Given the description of an element on the screen output the (x, y) to click on. 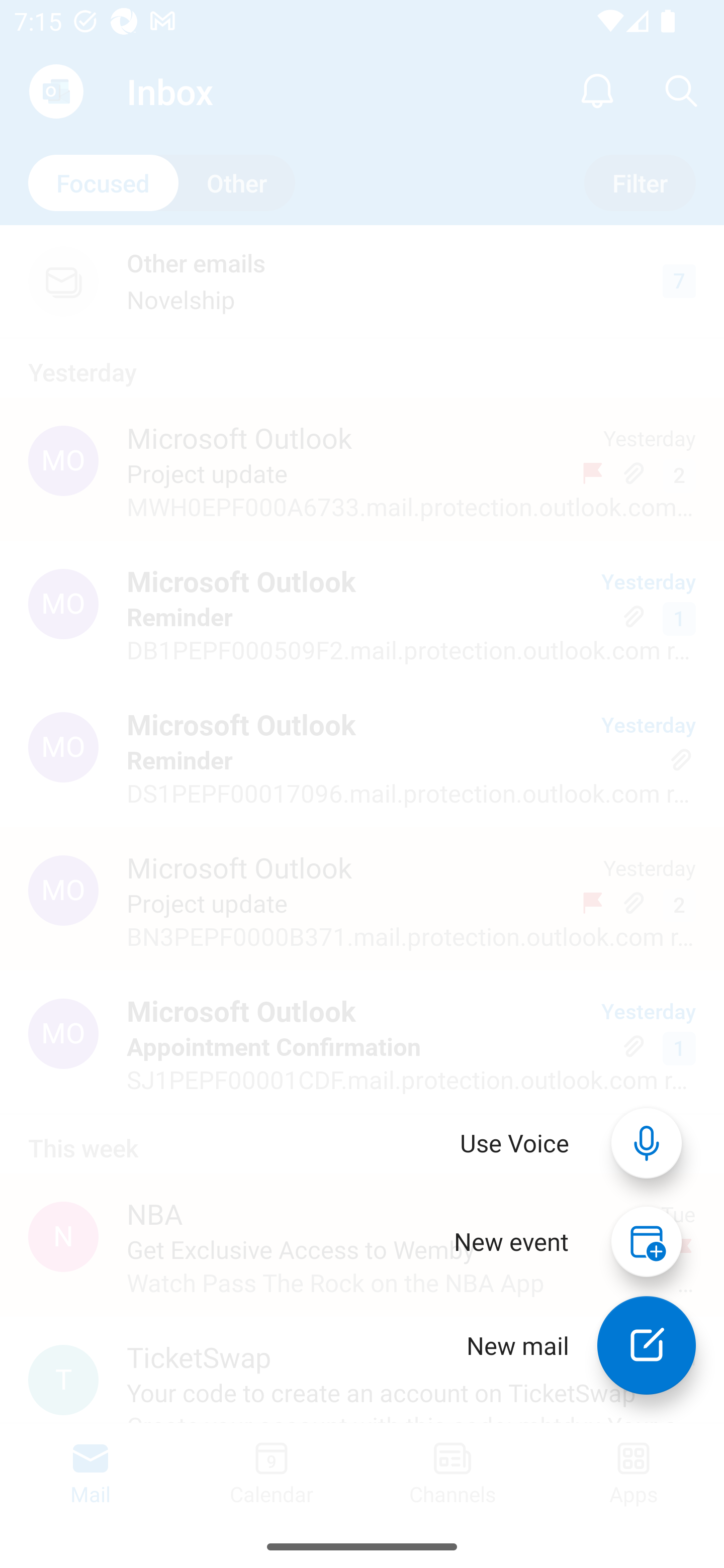
Use Voice (514, 1142)
New event (511, 1241)
New mail New mail New mail (566, 1344)
New mail (646, 1344)
